Given the description of an element on the screen output the (x, y) to click on. 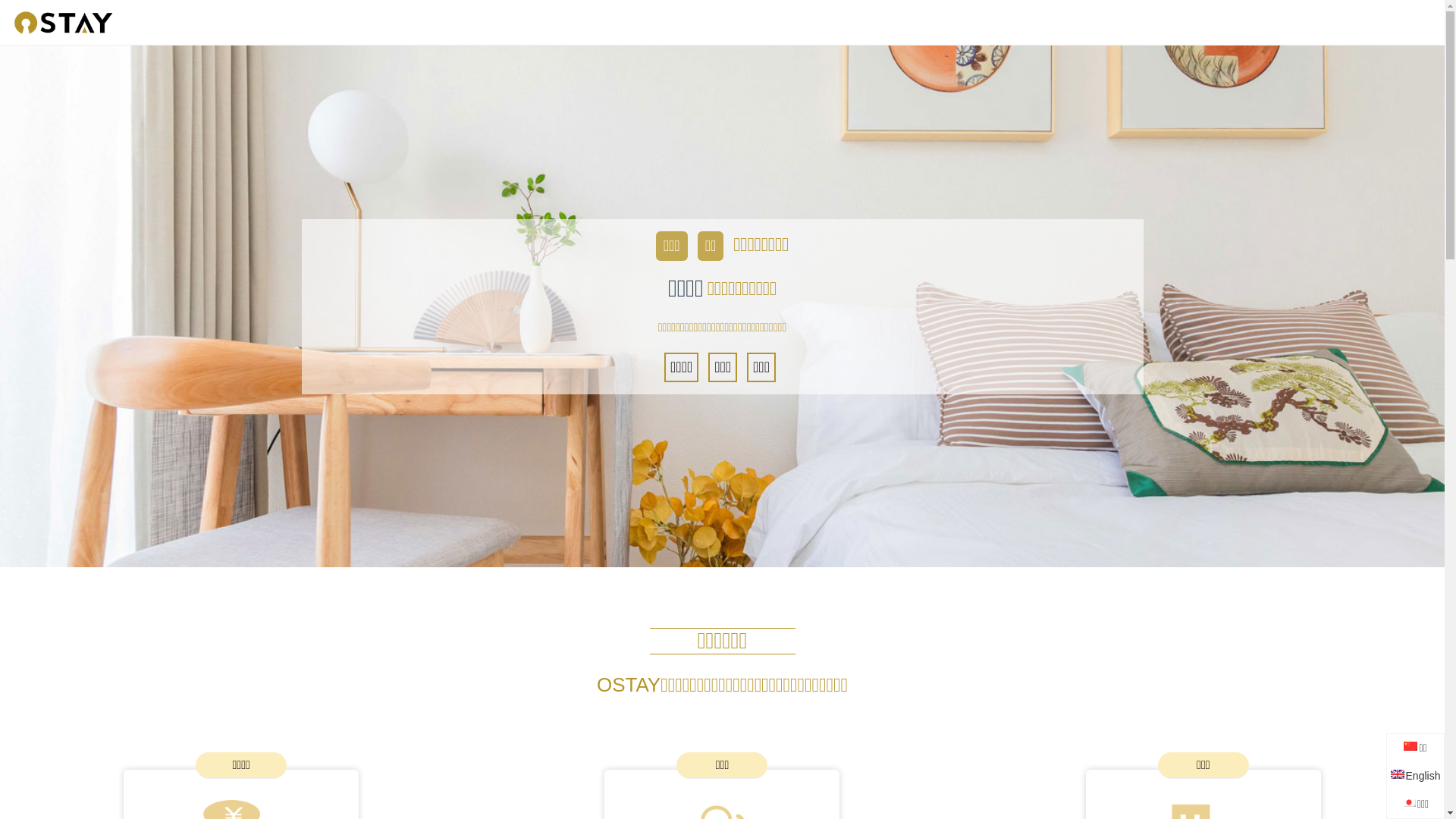
English Element type: text (1415, 775)
